Given the description of an element on the screen output the (x, y) to click on. 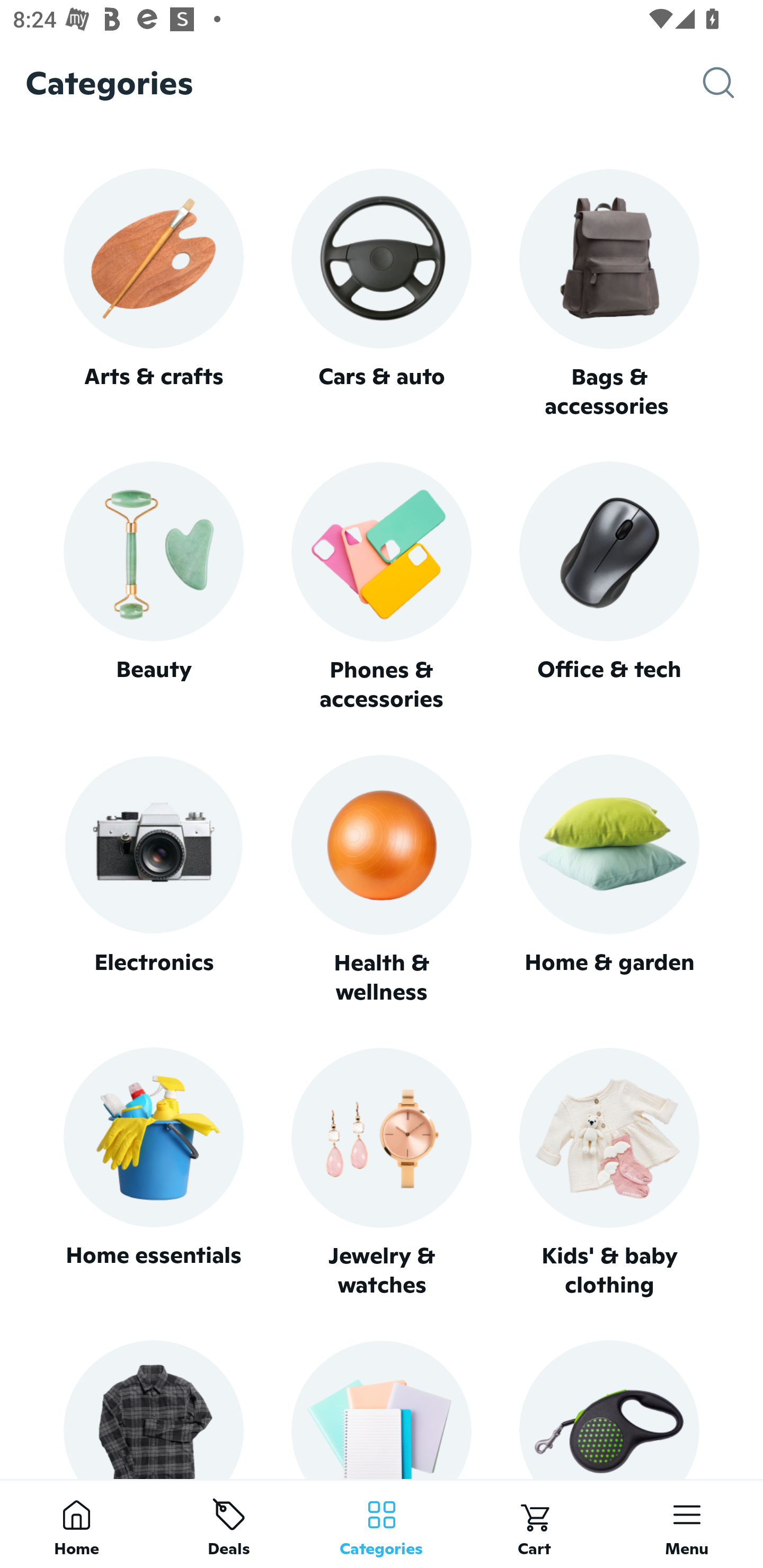
Search (732, 82)
Arts & crafts (153, 293)
Cars & auto (381, 293)
Bags & accessories  (609, 294)
Beauty (153, 586)
Office & tech (609, 586)
Phones & accessories (381, 587)
Electronics (153, 880)
Home & garden (609, 880)
Health & wellness (381, 880)
Home essentials (153, 1172)
Jewelry & watches (381, 1172)
Kids' & baby clothing (609, 1172)
Men's clothing (153, 1409)
Pet supplies (609, 1409)
Office & school supplies (381, 1409)
Home (76, 1523)
Deals (228, 1523)
Categories (381, 1523)
Cart (533, 1523)
Menu (686, 1523)
